Given the description of an element on the screen output the (x, y) to click on. 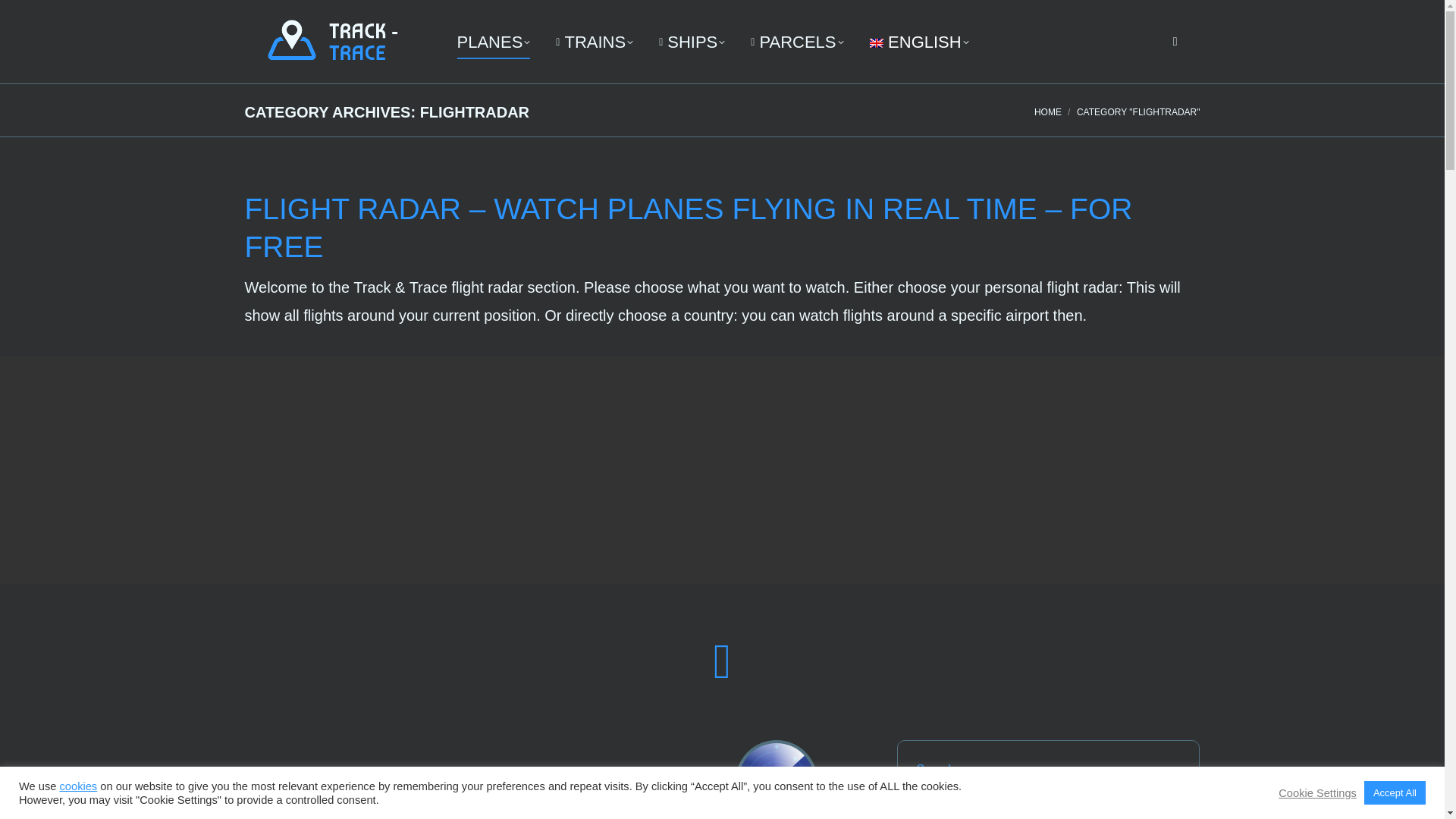
English (918, 41)
PLANES (490, 41)
ENGLISH (918, 41)
Go! (1158, 805)
Go! (22, 15)
Go! (1158, 805)
SHIPS (691, 41)
TRAINS (594, 41)
Home (1047, 112)
personal flight radar (775, 780)
PARCELS (796, 41)
